Given the description of an element on the screen output the (x, y) to click on. 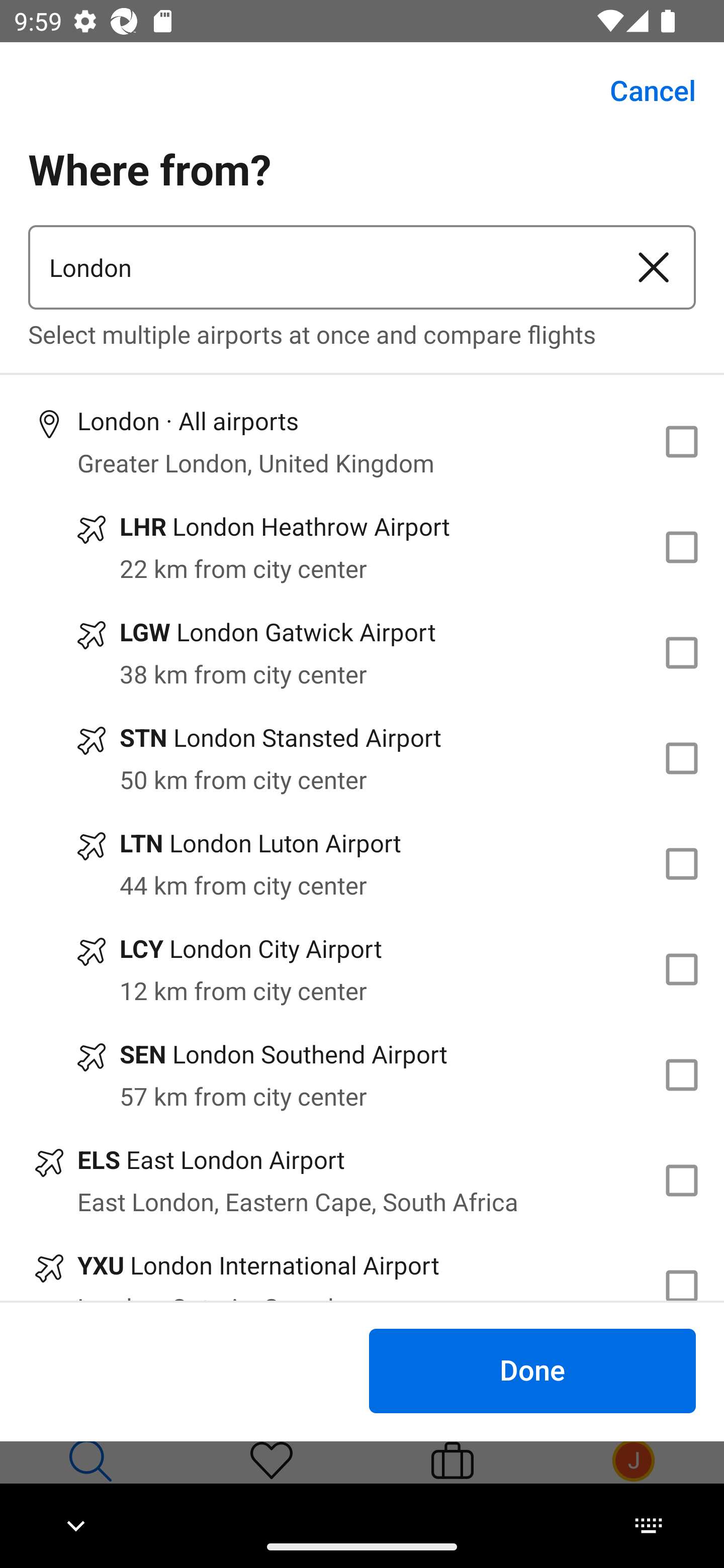
Cancel (641, 90)
London (319, 266)
Clear airport or city (653, 266)
LHR London Heathrow Airport 22 km from city center (362, 547)
LGW London Gatwick Airport 38 km from city center (362, 652)
STN London Stansted Airport 50 km from city center (362, 757)
LTN London Luton Airport 44 km from city center (362, 863)
LCY London City Airport 12 km from city center (362, 969)
SEN London Southend Airport 57 km from city center (362, 1074)
Done (532, 1370)
